Given the description of an element on the screen output the (x, y) to click on. 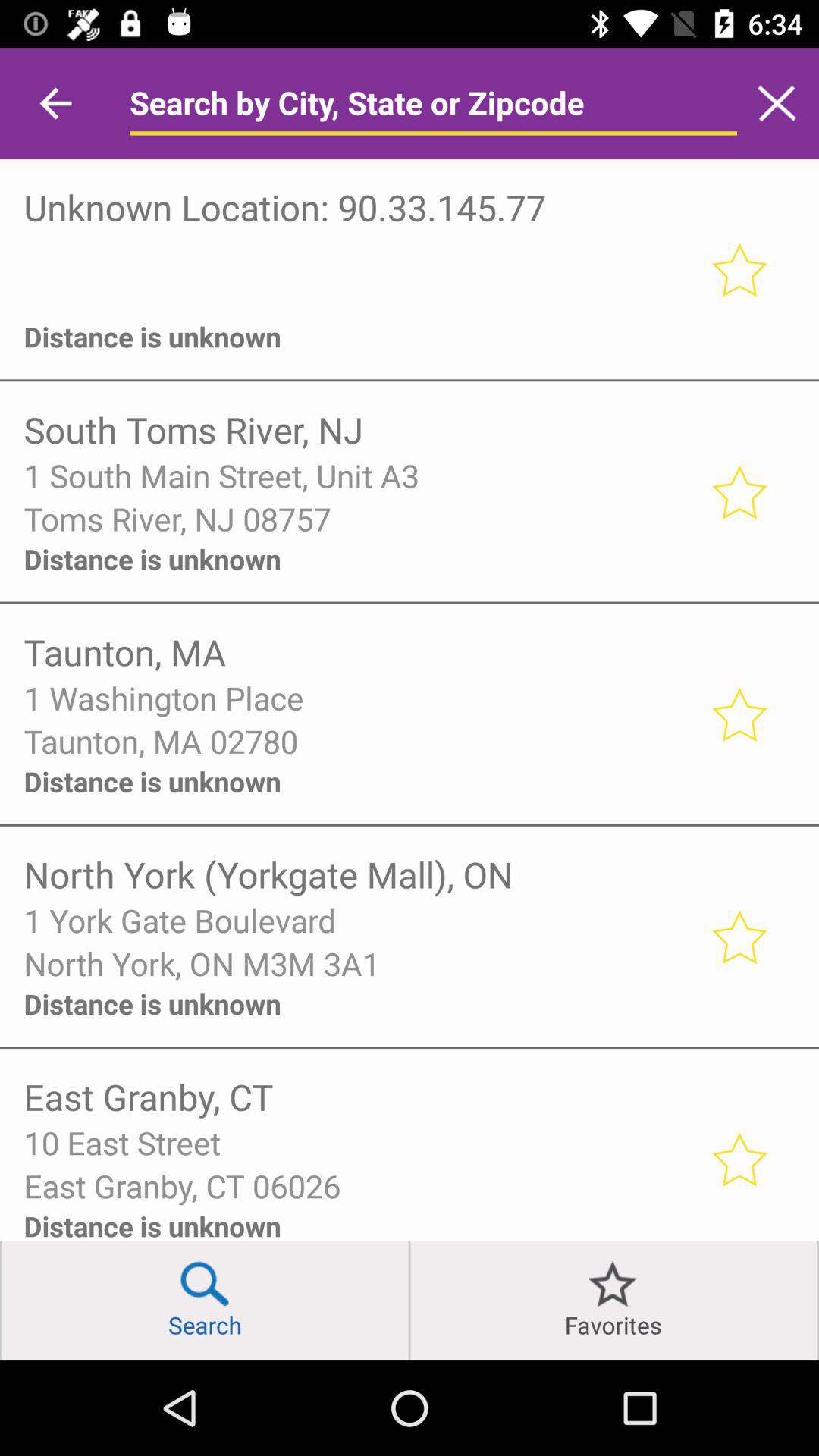
add favorites (738, 491)
